Given the description of an element on the screen output the (x, y) to click on. 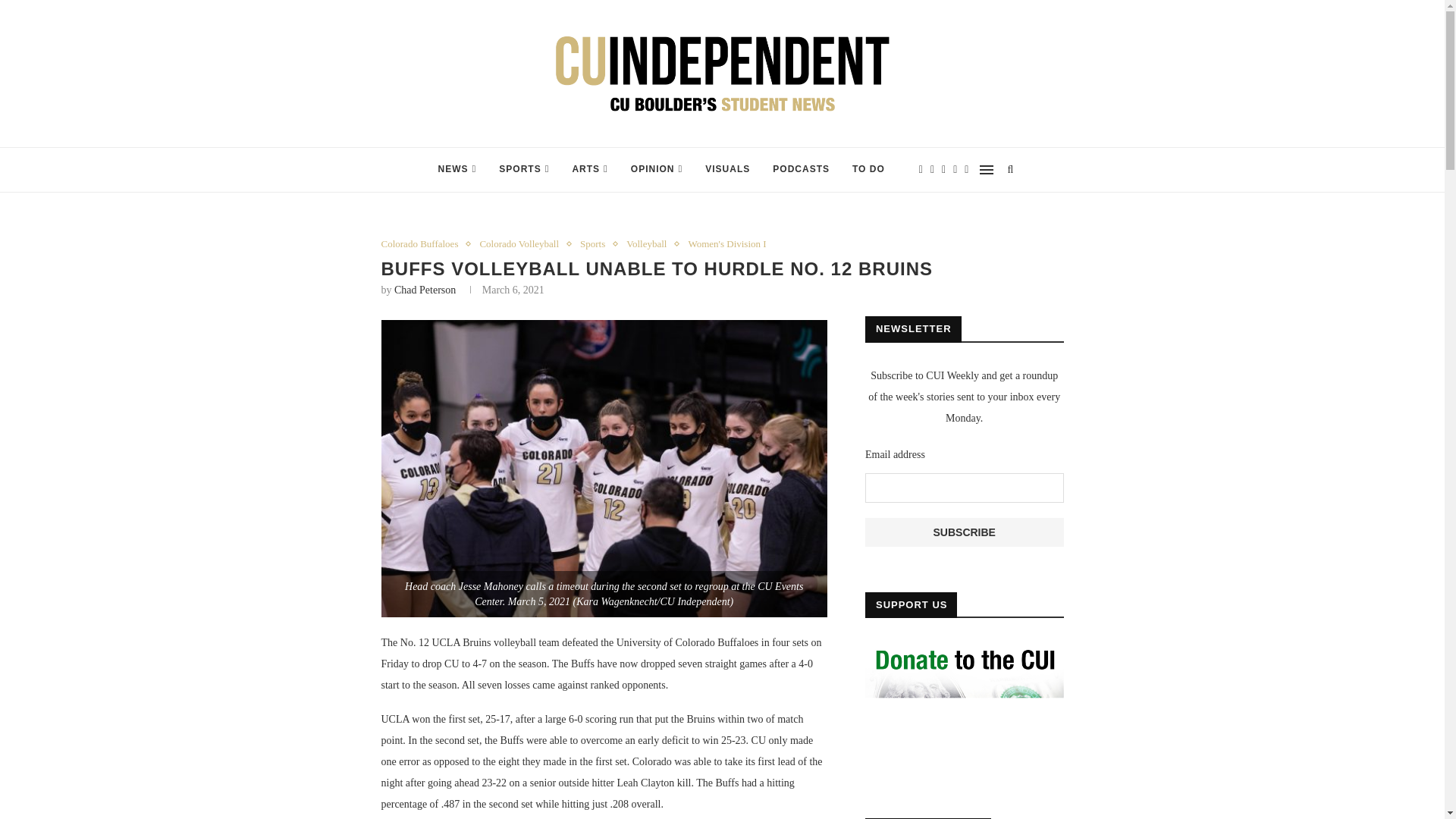
Subscribe (964, 532)
